Given the description of an element on the screen output the (x, y) to click on. 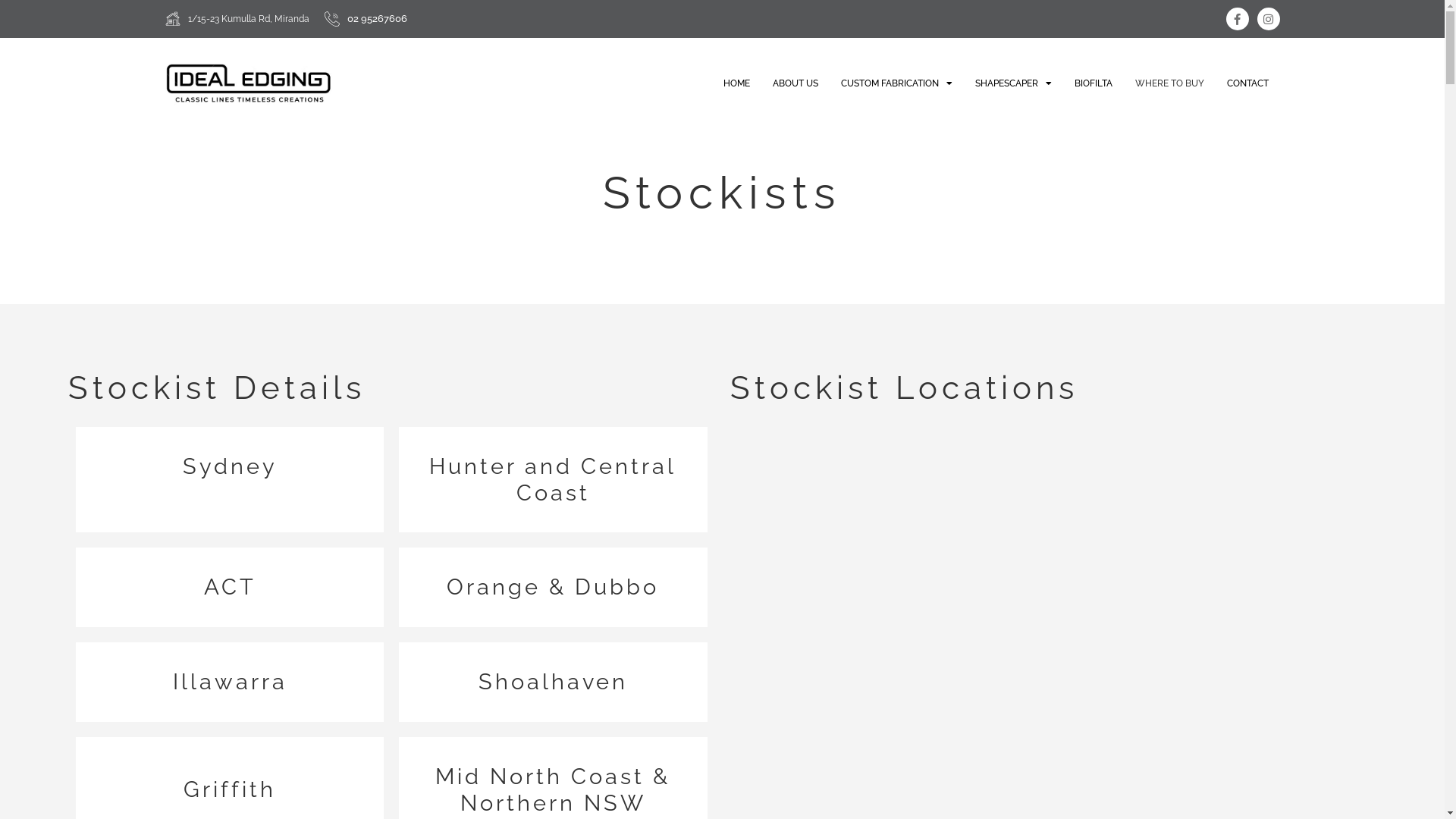
ABOUT US Element type: text (795, 82)
02 95267606 Element type: text (377, 18)
SHAPESCAPER Element type: text (1012, 82)
Sydney Element type: text (229, 466)
Griffith Element type: text (229, 789)
Hunter and Central Coast Element type: text (552, 479)
CUSTOM FABRICATION Element type: text (896, 82)
Orange & Dubbo Element type: text (552, 586)
CONTACT Element type: text (1246, 82)
Mid North Coast & Northern NSW Element type: text (552, 789)
WHERE TO BUY Element type: text (1169, 82)
Shoalhaven Element type: text (552, 681)
HOME Element type: text (735, 82)
ACT Element type: text (229, 586)
BIOFILTA Element type: text (1093, 82)
Illawarra Element type: text (229, 681)
